Given the description of an element on the screen output the (x, y) to click on. 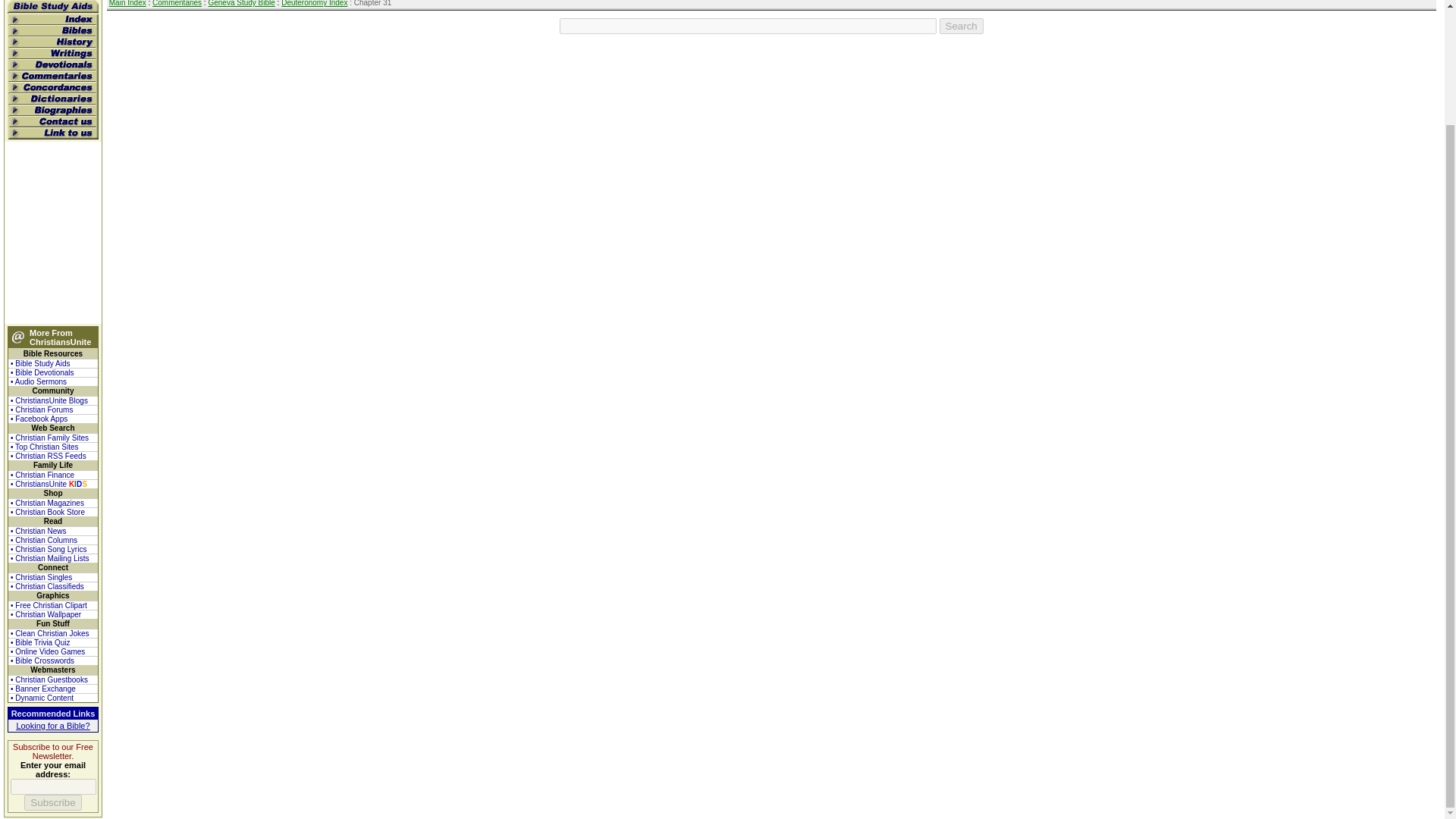
Subscribe (52, 802)
Deuteronomy Index (314, 3)
Commentaries (177, 3)
Looking for a Bible? (52, 725)
Search (961, 26)
Main Index (128, 3)
Search (961, 26)
Subscribe (52, 802)
Geneva Study Bible (241, 3)
